Given the description of an element on the screen output the (x, y) to click on. 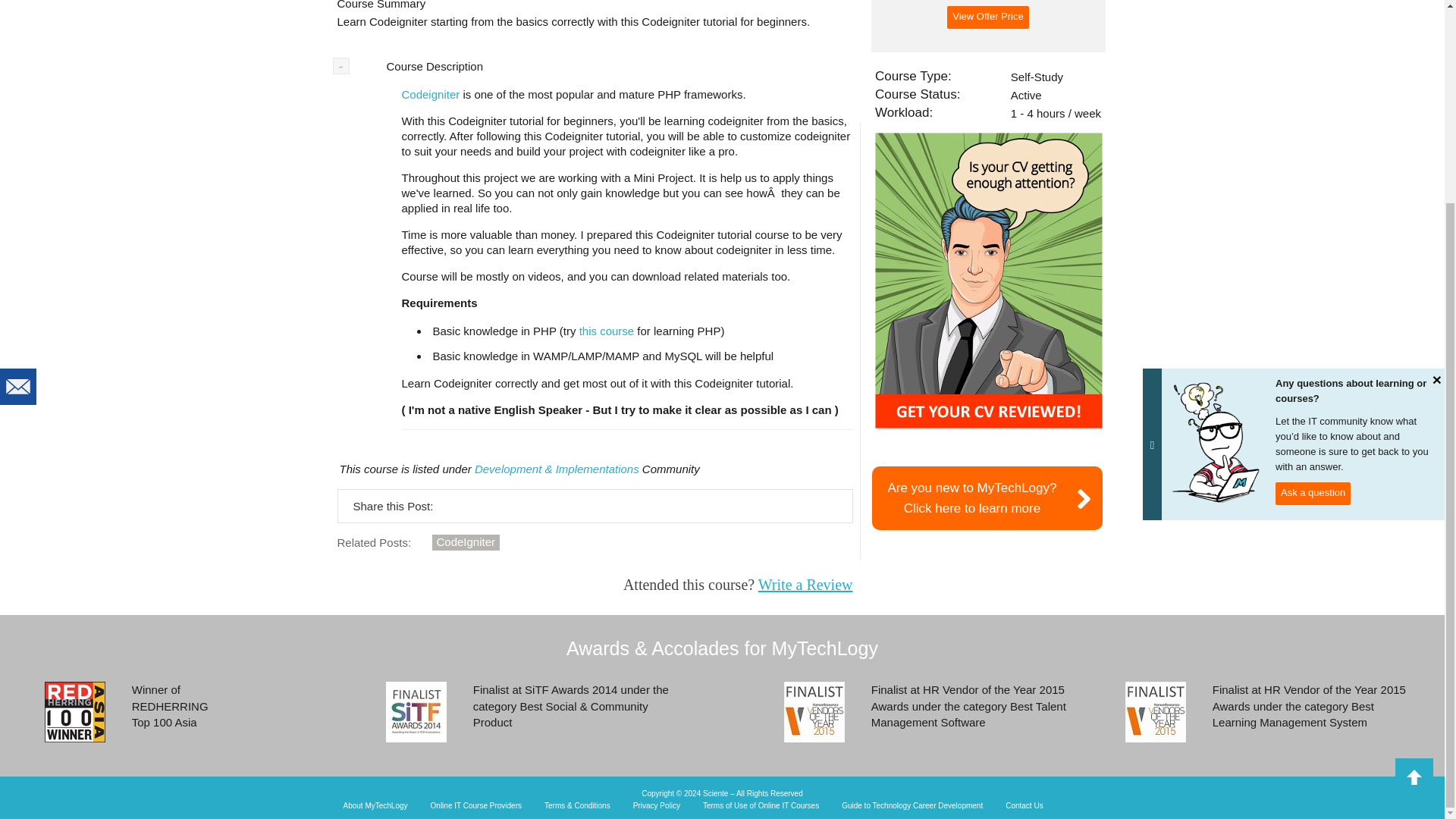
Write a Review (805, 584)
Codeigniter (430, 93)
View Offer Price (987, 16)
Terms of Use of Online IT Courses (760, 805)
CodeIgniter (466, 542)
Privacy Policy (656, 805)
Online IT Course Providers (475, 805)
About MyTechLogy (987, 497)
Winner of REDHERRING Top 100 Asia (374, 805)
